Given the description of an element on the screen output the (x, y) to click on. 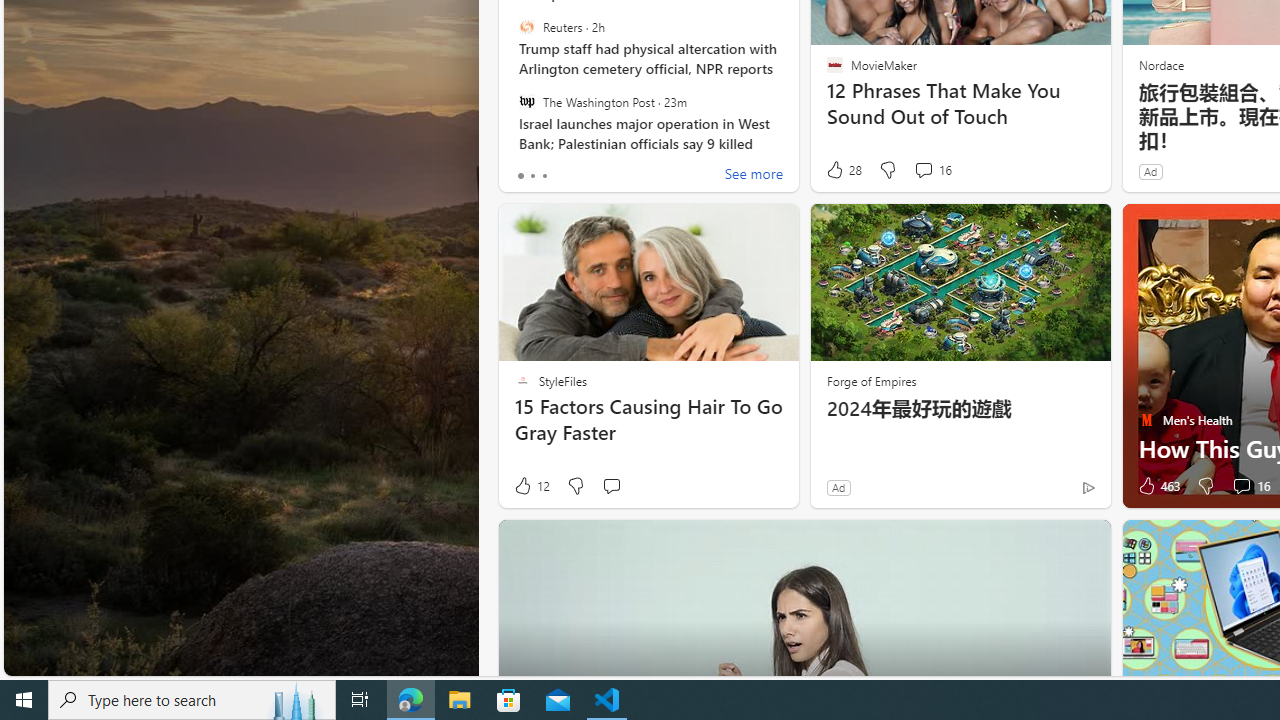
tab-2 (543, 175)
tab-1 (532, 175)
